Given the description of an element on the screen output the (x, y) to click on. 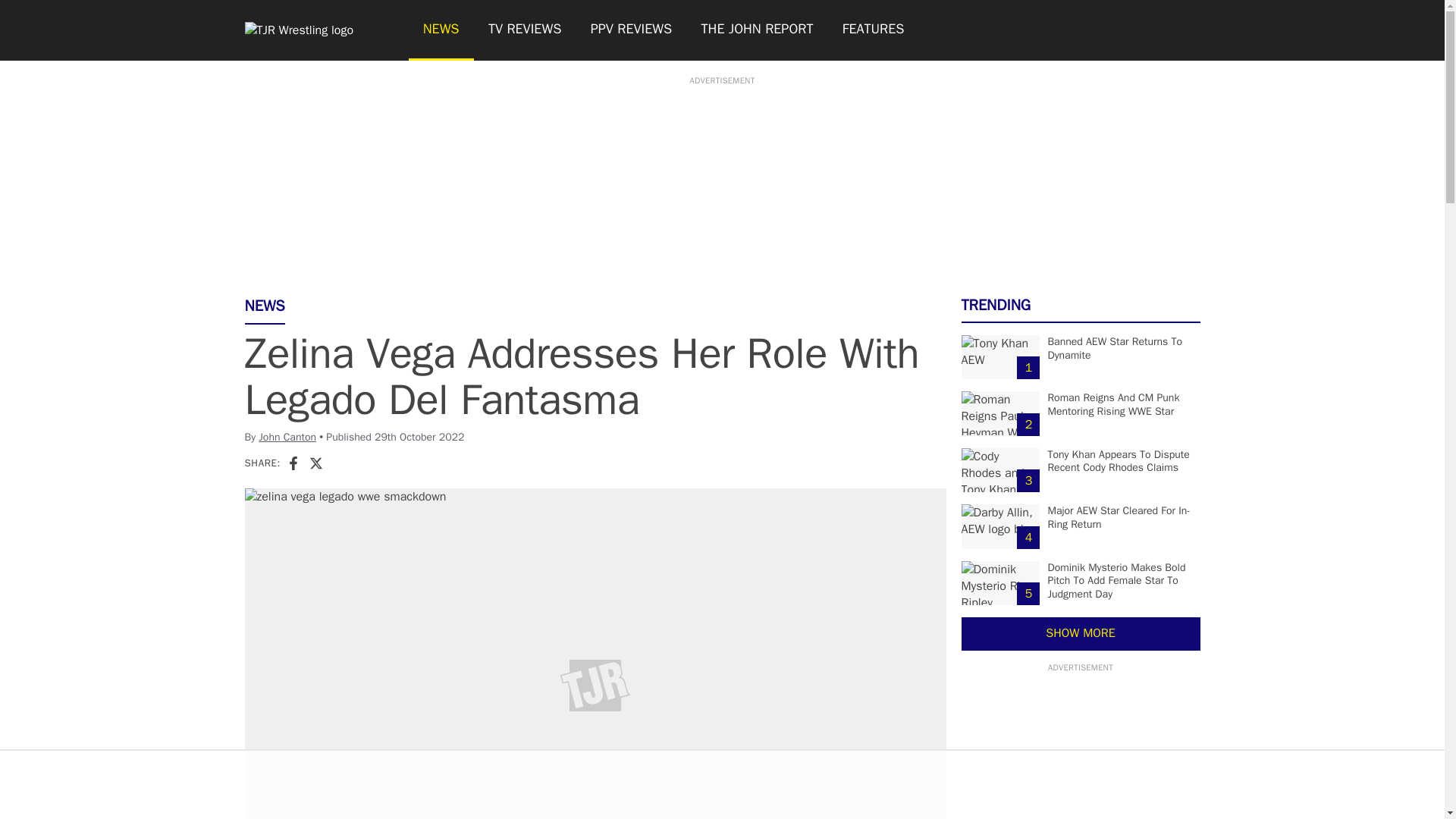
Facebook (292, 463)
Facebook (292, 462)
NEWS (440, 30)
John Canton (287, 436)
TV REVIEWS (525, 30)
THE JOHN REPORT (756, 30)
X (315, 463)
FEATURES (873, 30)
PPV REVIEWS (631, 30)
X (315, 462)
